Given the description of an element on the screen output the (x, y) to click on. 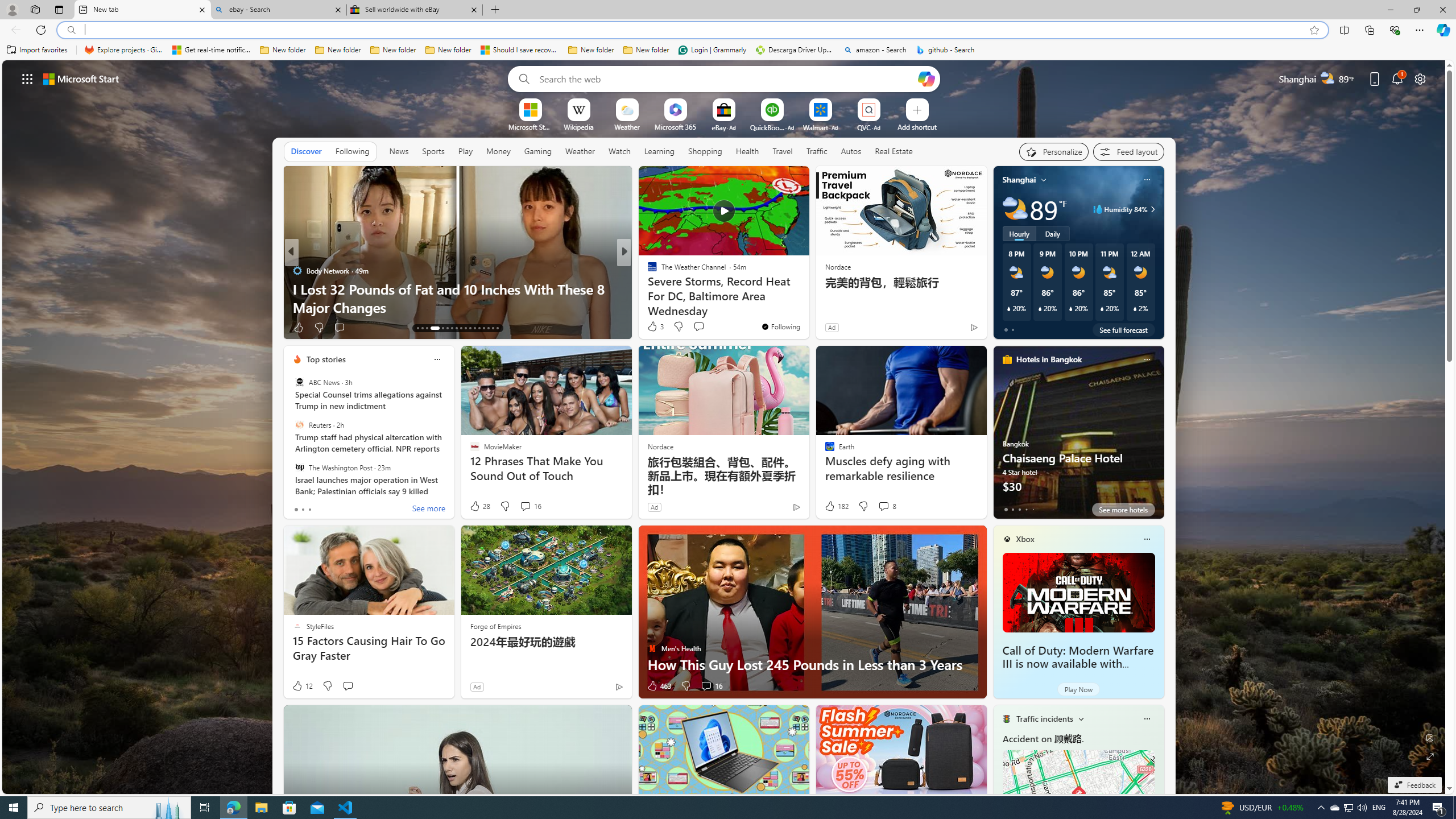
Play Now (1078, 689)
See more hotels (1123, 509)
102 Like (654, 327)
Gaming (537, 151)
Traffic incidents (1044, 718)
182 Like (835, 505)
Watch (619, 151)
Start the conversation (347, 685)
View comments 8 Comment (887, 505)
Money (497, 151)
Microsoft 365 (675, 126)
AutomationID: tab-26 (483, 328)
